Given the description of an element on the screen output the (x, y) to click on. 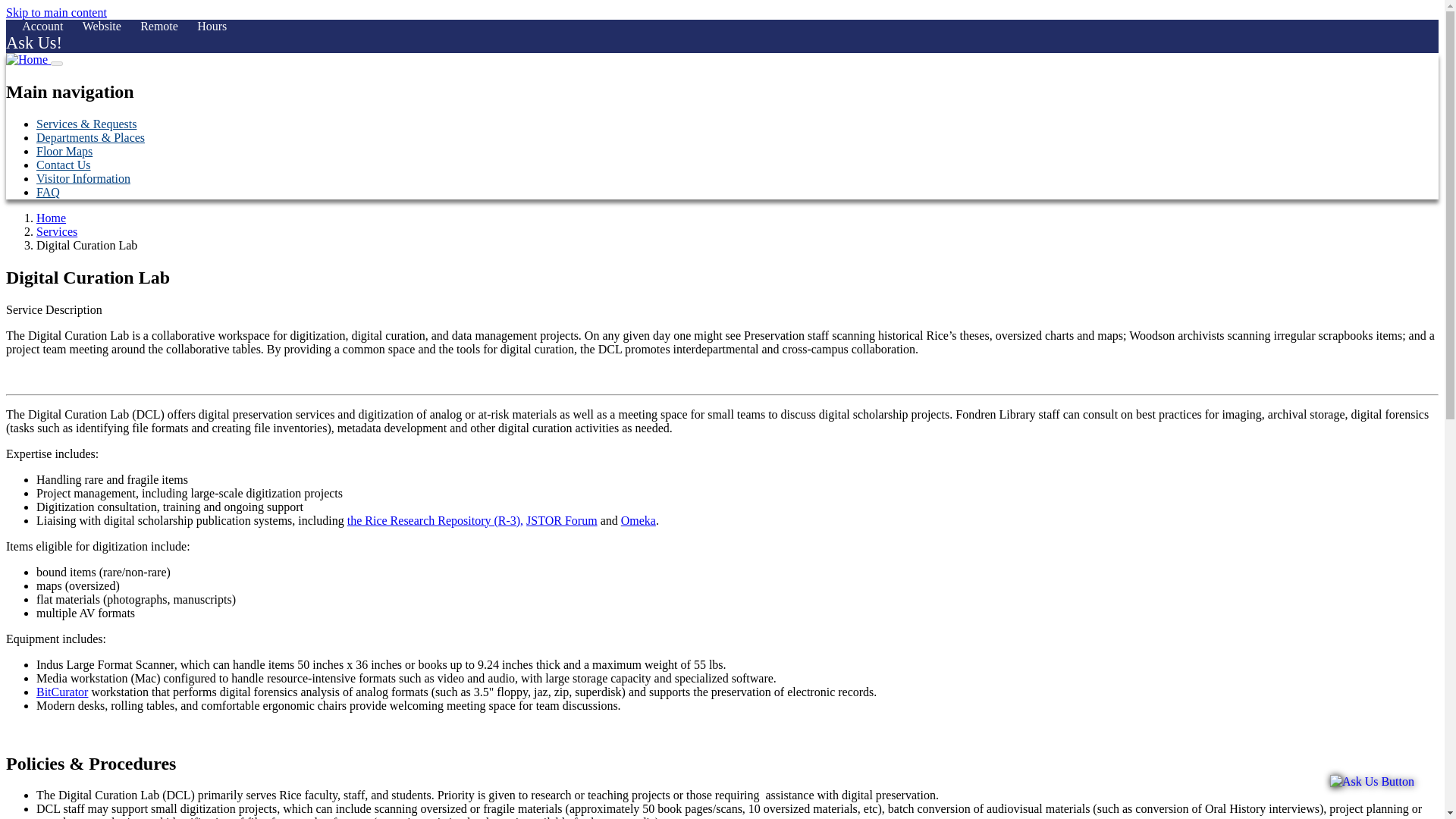
Floor Maps (64, 151)
Skip to main content (55, 11)
Website (101, 25)
Hours (211, 25)
Visitor Information (83, 178)
Remote (158, 25)
Services (56, 231)
Home (50, 217)
BitCurator (61, 691)
Account (41, 25)
